Given the description of an element on the screen output the (x, y) to click on. 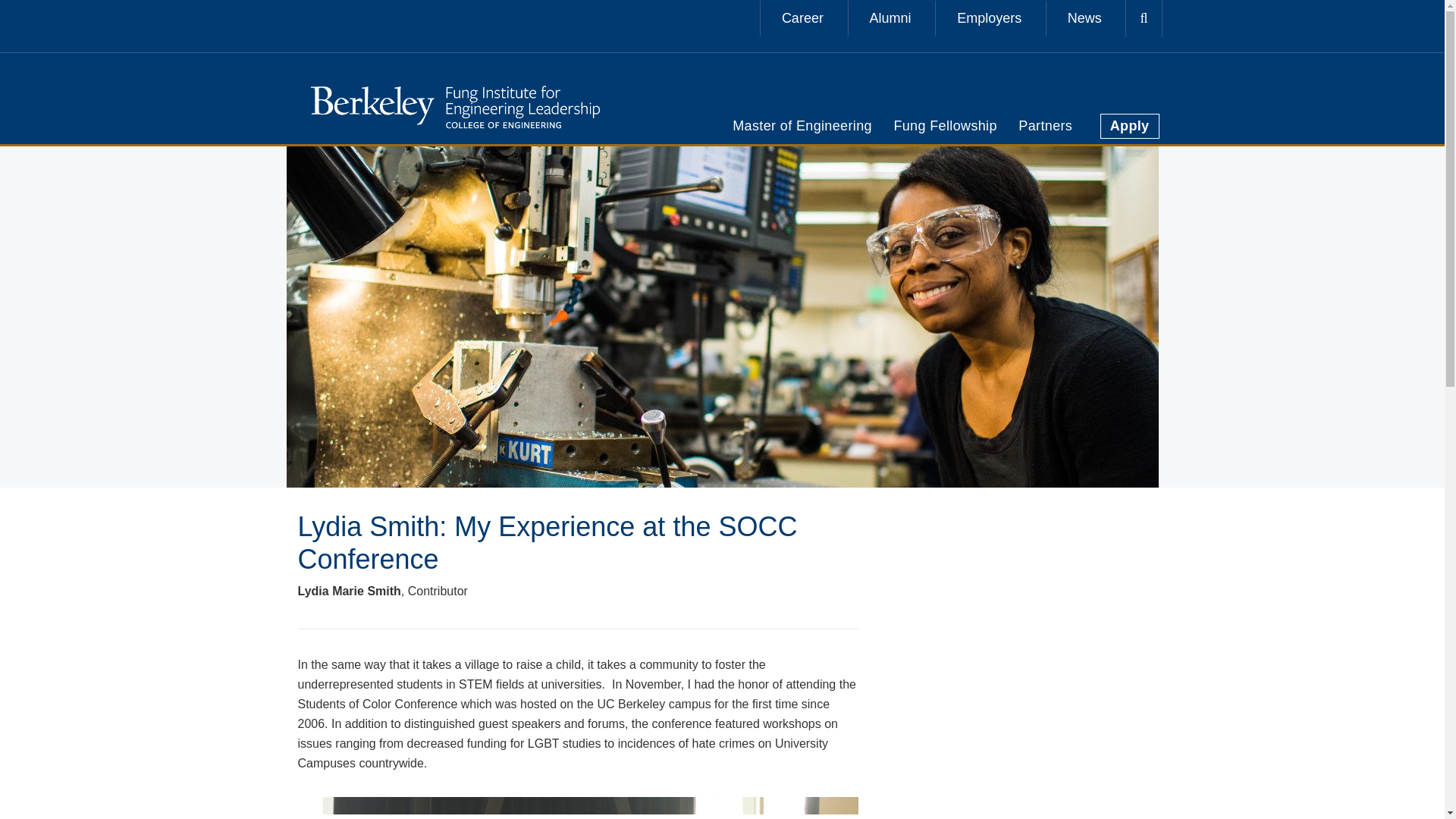
Fung Institute for Engineering Leadership (454, 105)
News (1084, 17)
Alumni (890, 17)
Partners (1045, 126)
Apply (1129, 126)
Fung Fellowship (944, 126)
Employers (989, 17)
Career (802, 17)
Master of Engineering (801, 126)
